Given the description of an element on the screen output the (x, y) to click on. 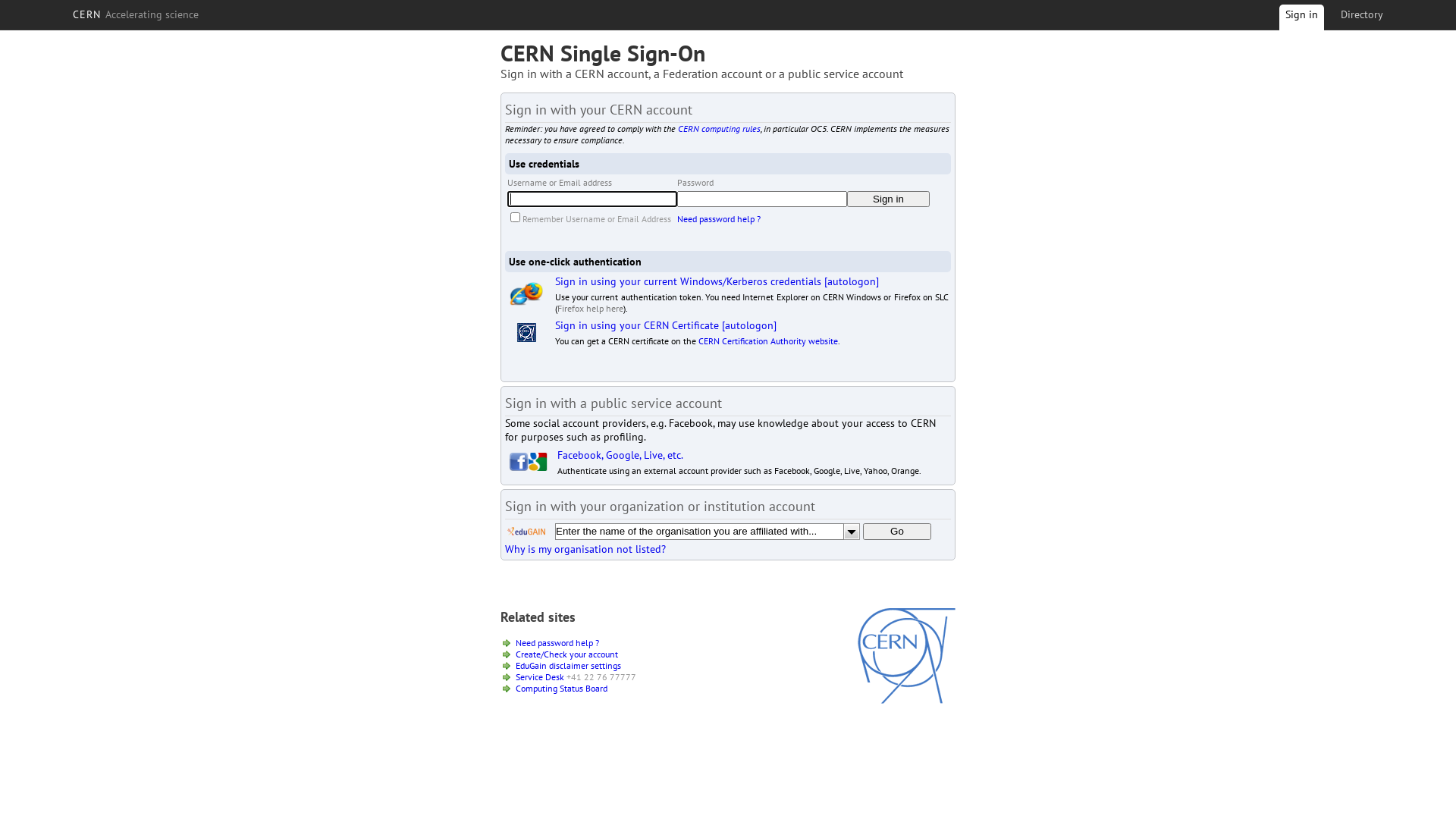
EduGain disclaimer settings Element type: text (568, 665)
Computing Status Board Element type: text (561, 687)
Sign in using your CERN Certificate Element type: text (636, 325)
CERN Accelerating science Element type: text (135, 14)
Sign in Element type: text (1301, 19)
Need password help ? Element type: text (718, 218)
Directory Element type: text (1361, 14)
Facebook, Google, Live, etc. Element type: text (620, 454)
Why is my organisation not listed? Element type: text (585, 548)
Sign in using your current Windows/Kerberos credentials Element type: text (688, 281)
[autologon] Element type: text (851, 281)
Sign in Element type: text (888, 199)
[autologon] Element type: text (748, 325)
CERN Single Sign-On Element type: text (602, 52)
Enter your Username or Email Address Element type: hover (592, 199)
Create/Check your account Element type: text (566, 653)
Go Element type: text (896, 531)
CERN computing rules Element type: text (718, 128)
Need password help ? Element type: text (557, 642)
Firefox help here Element type: text (590, 307)
CERN Certification Authority website Element type: text (767, 340)
Service Desk Element type: text (539, 676)
CERN Element type: hover (906, 699)
[show debug information] Element type: text (549, 565)
